Given the description of an element on the screen output the (x, y) to click on. 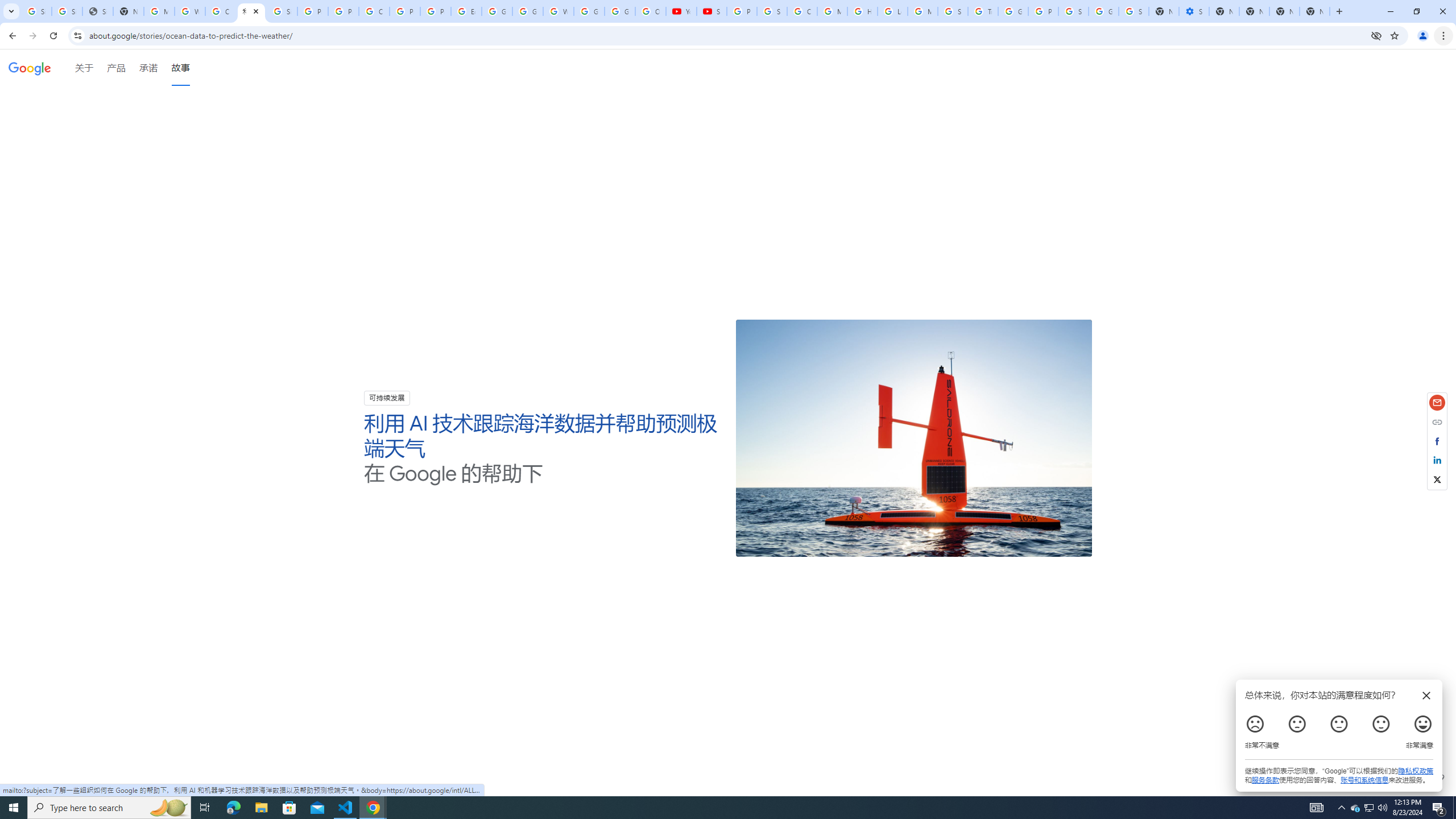
Create your Google Account (220, 11)
Trusted Information and Content - Google Safety Center (982, 11)
YouTube (681, 11)
